Given the description of an element on the screen output the (x, y) to click on. 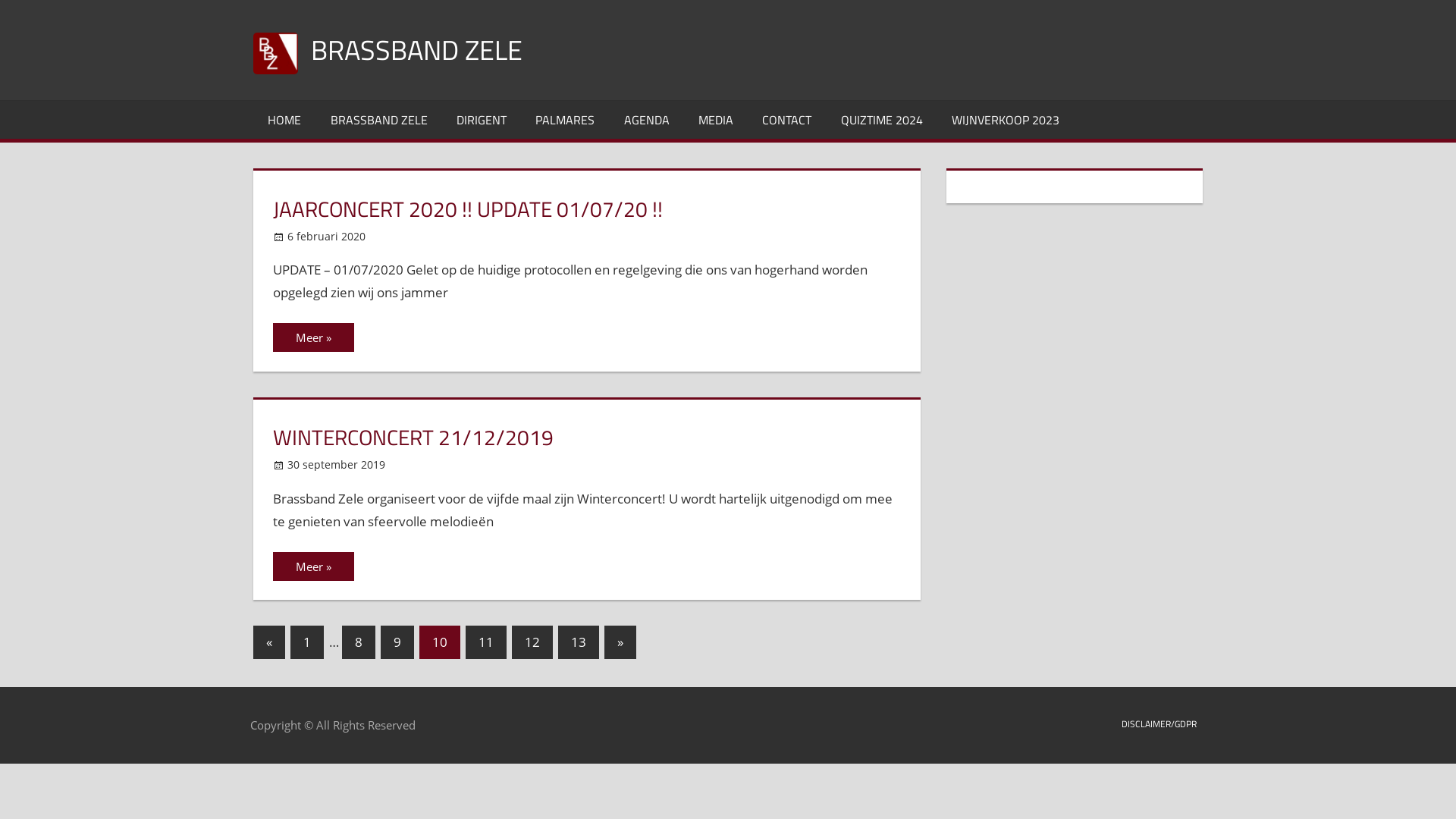
MEDIA Element type: text (715, 119)
Thomas Collewaert Element type: text (446, 236)
Meer Element type: text (313, 337)
BRASSBAND ZELE Element type: text (378, 119)
Skip to content Element type: text (0, 0)
DIRIGENT Element type: text (481, 119)
9 Element type: text (397, 641)
1 Element type: text (306, 641)
WIJNVERKOOP 2023 Element type: text (1005, 119)
Geen categorie Element type: text (456, 464)
JAARCONCERT 2020 !! UPDATE 01/07/20 !! Element type: text (467, 208)
HOME Element type: text (284, 119)
11 Element type: text (485, 641)
AGENDA Element type: text (646, 119)
6 februari 2020 Element type: text (326, 236)
DISCLAIMER/GDPR Element type: text (1158, 723)
Meer Element type: text (313, 566)
Geen categorie Element type: text (436, 236)
WINTERCONCERT 21/12/2019 Element type: text (413, 436)
8 Element type: text (358, 641)
13 Element type: text (578, 641)
CONTACT Element type: text (786, 119)
PALMARES Element type: text (564, 119)
12 Element type: text (531, 641)
30 september 2019 Element type: text (336, 464)
QUIZTIME 2024 Element type: text (881, 119)
Thomas Collewaert Element type: text (466, 464)
BRASSBAND ZELE Element type: text (416, 49)
